Given the description of an element on the screen output the (x, y) to click on. 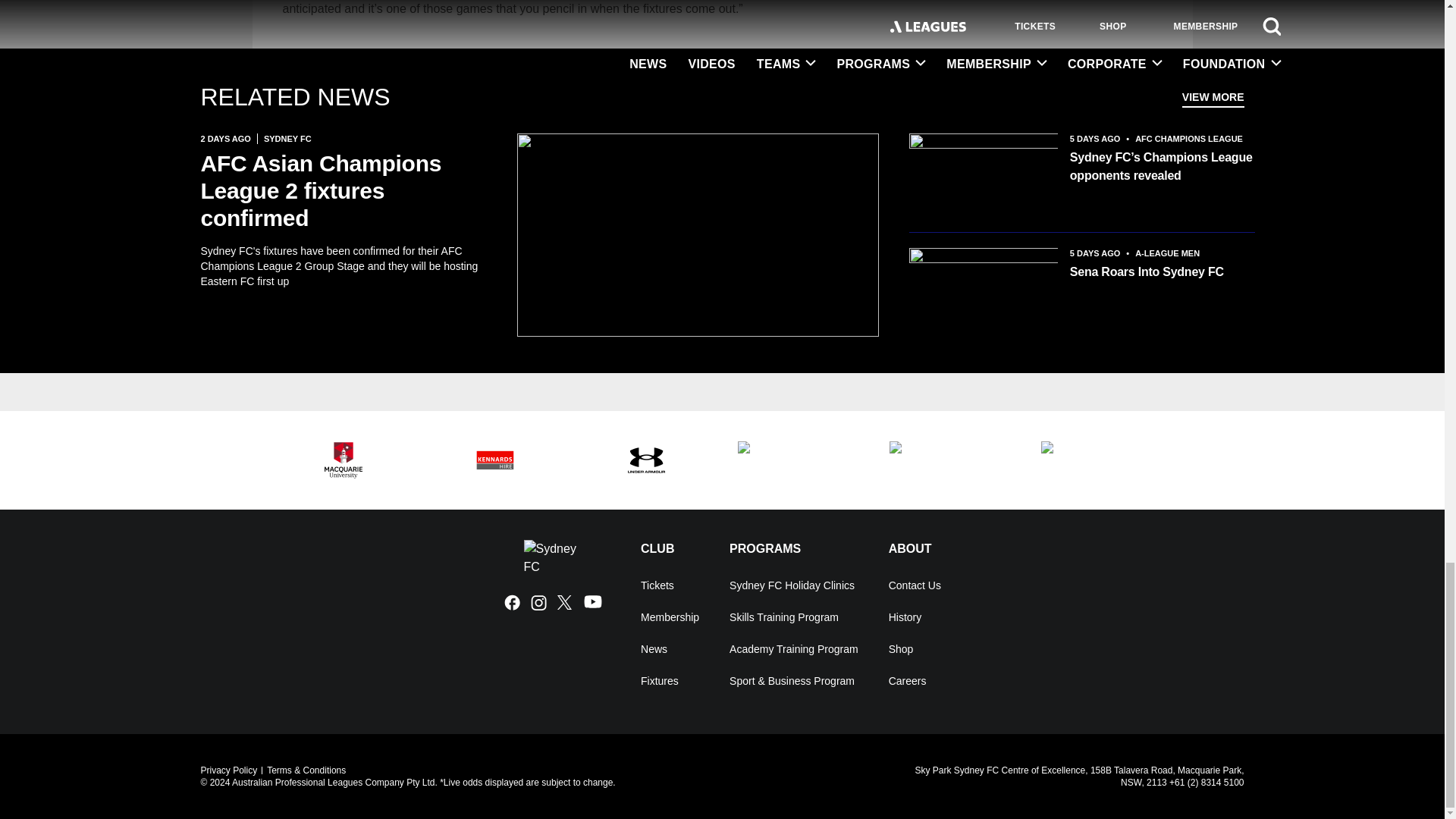
Kennards (493, 460)
Under Armour (645, 460)
Macquarie Uni (342, 460)
